Given the description of an element on the screen output the (x, y) to click on. 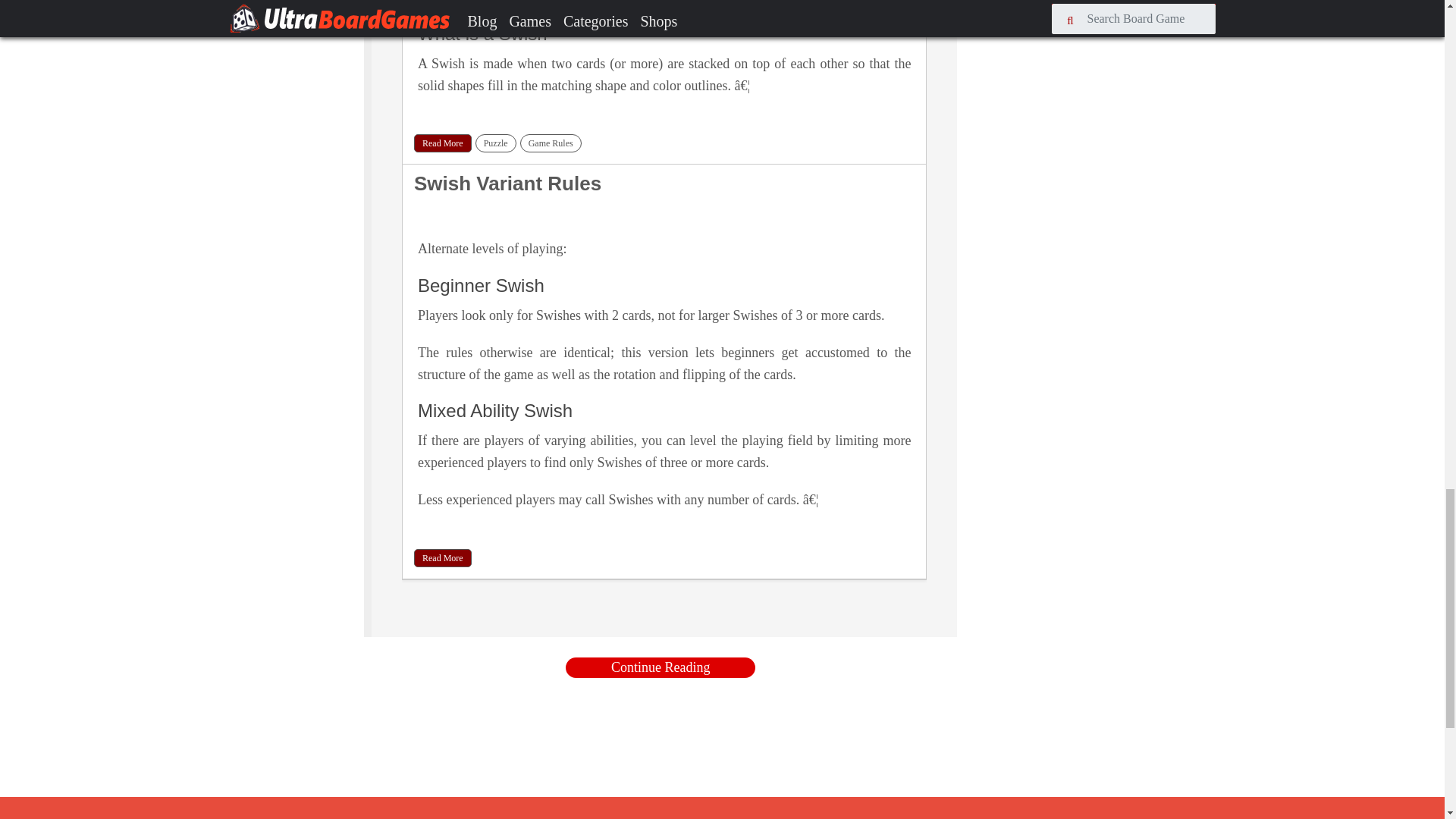
Read More (442, 143)
Puzzle (496, 143)
Game Rules (549, 143)
Continue Reading (660, 667)
Read More (442, 557)
